Given the description of an element on the screen output the (x, y) to click on. 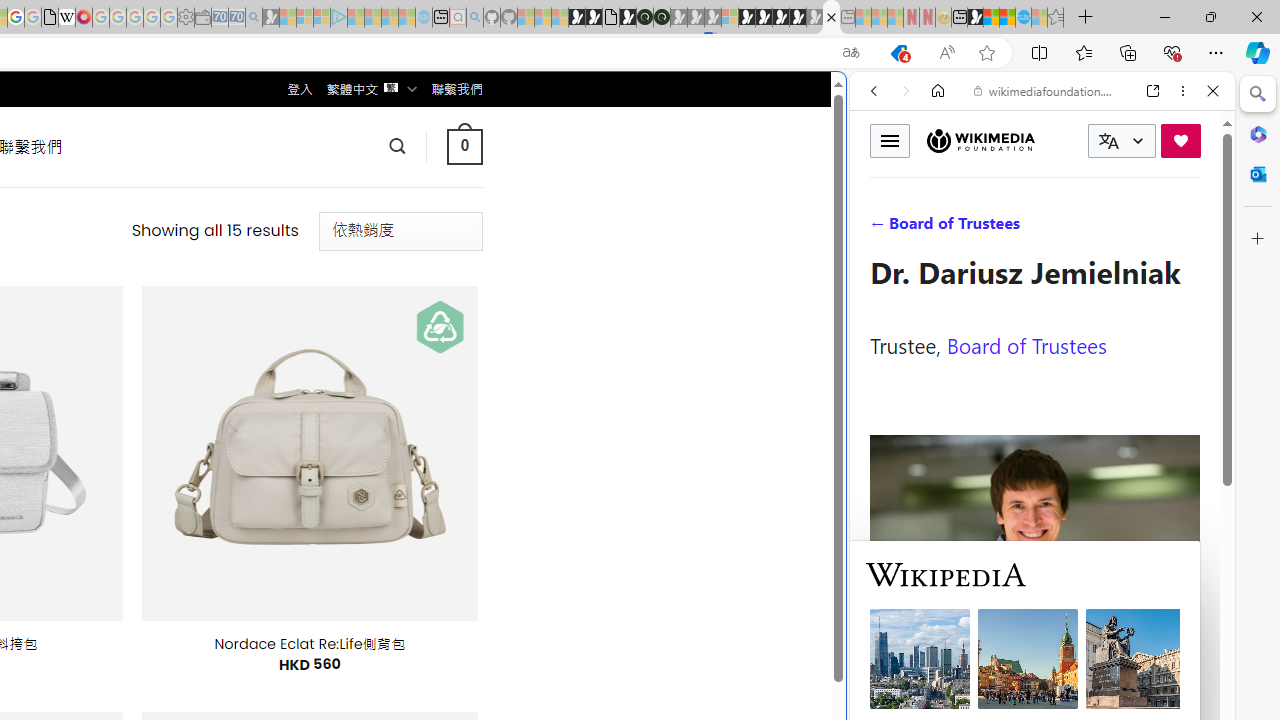
Open link in new tab (1153, 91)
Sign in to your account - Sleeping (729, 17)
Play Zoo Boom in your browser | Games from Microsoft Start (593, 17)
wikimediafoundation.org (1045, 90)
Search Filter, Search Tools (1093, 228)
